Given the description of an element on the screen output the (x, y) to click on. 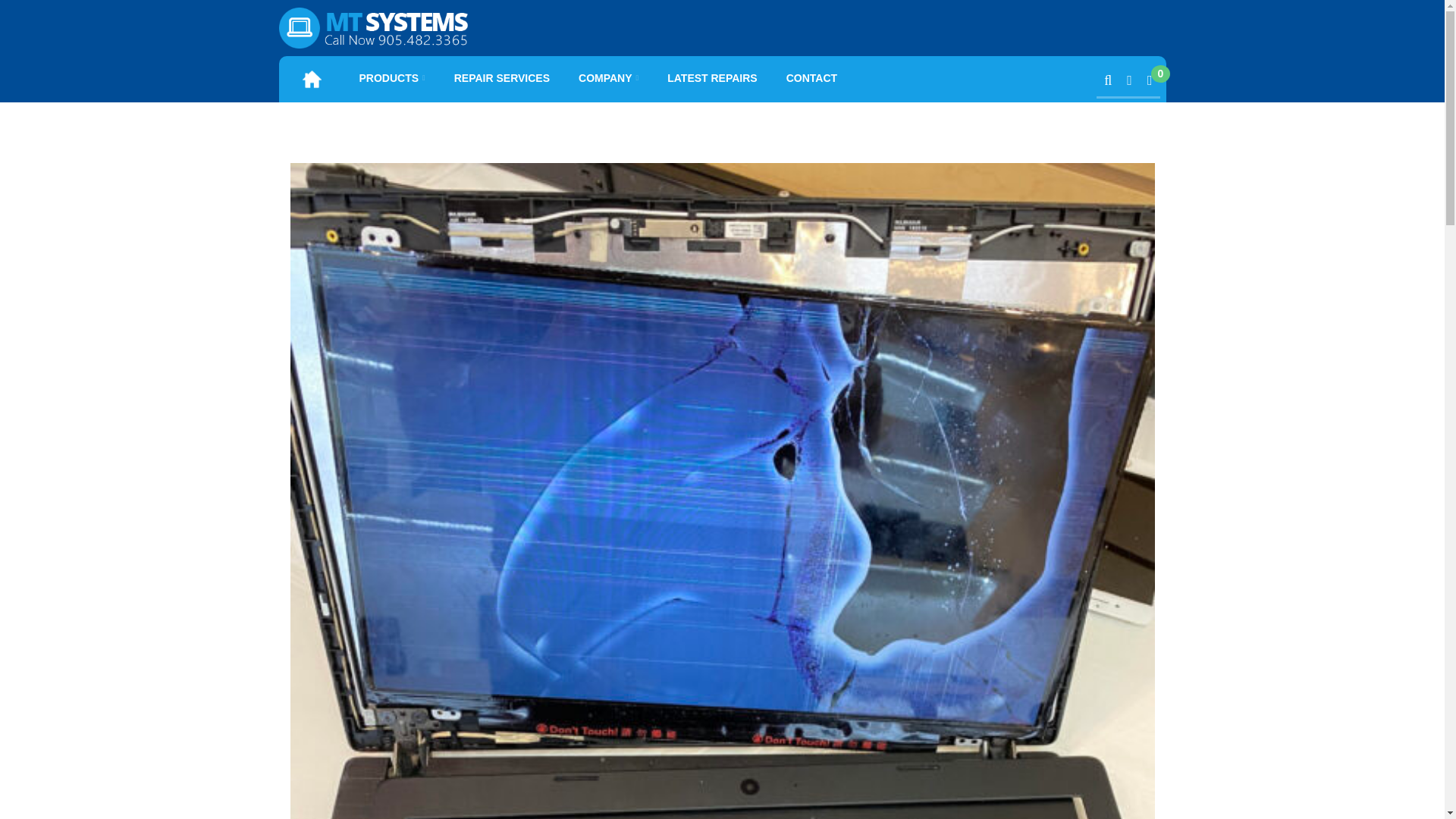
PRODUCTS (392, 77)
CONTACT (811, 77)
REPAIR SERVICES (502, 77)
COMPANY (608, 77)
LATEST REPAIRS (712, 77)
